Given the description of an element on the screen output the (x, y) to click on. 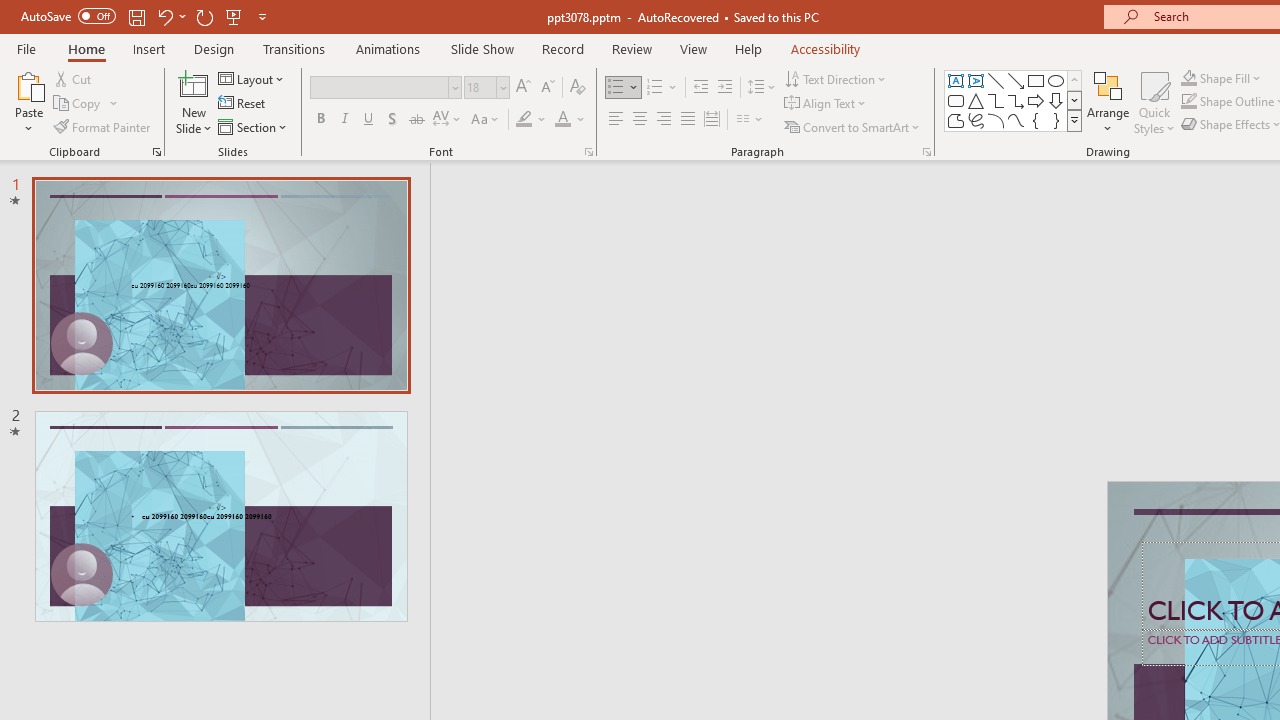
Vertical Text Box (975, 80)
Line Spacing (762, 87)
Open (502, 87)
Italic (344, 119)
Shape Fill Dark Green, Accent 2 (1188, 78)
Clear Formatting (577, 87)
Bold (320, 119)
Font... (588, 151)
Isosceles Triangle (975, 100)
Arrow: Down (1055, 100)
Font Size (486, 87)
